Given the description of an element on the screen output the (x, y) to click on. 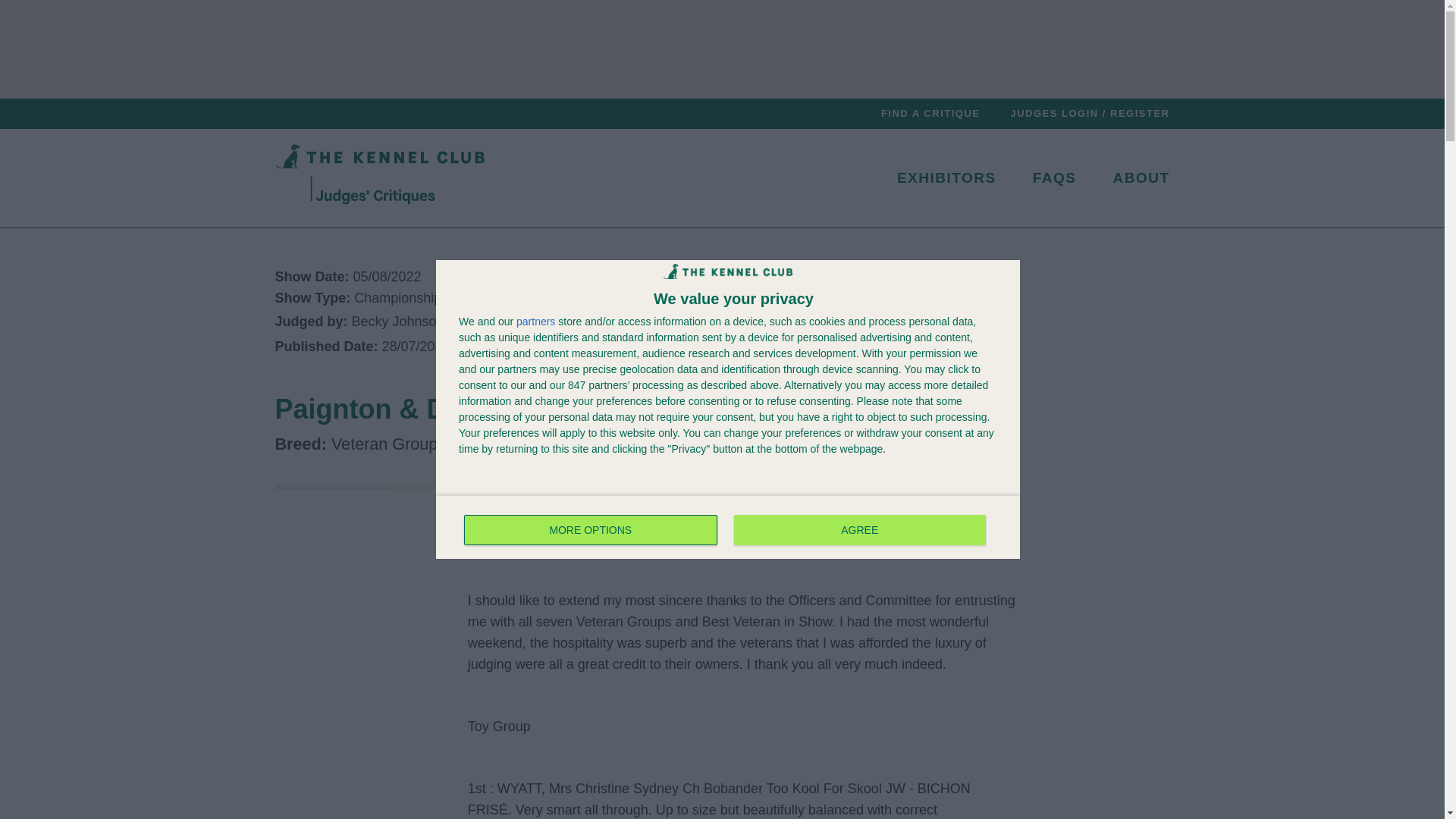
FIND A CRITIQUE (929, 112)
CONTACT JUDGE (512, 321)
AGREE (859, 530)
ABOUT (1140, 178)
EXHIBITORS (727, 526)
MORE OPTIONS (945, 178)
partners (590, 530)
FAQS (535, 321)
